Given the description of an element on the screen output the (x, y) to click on. 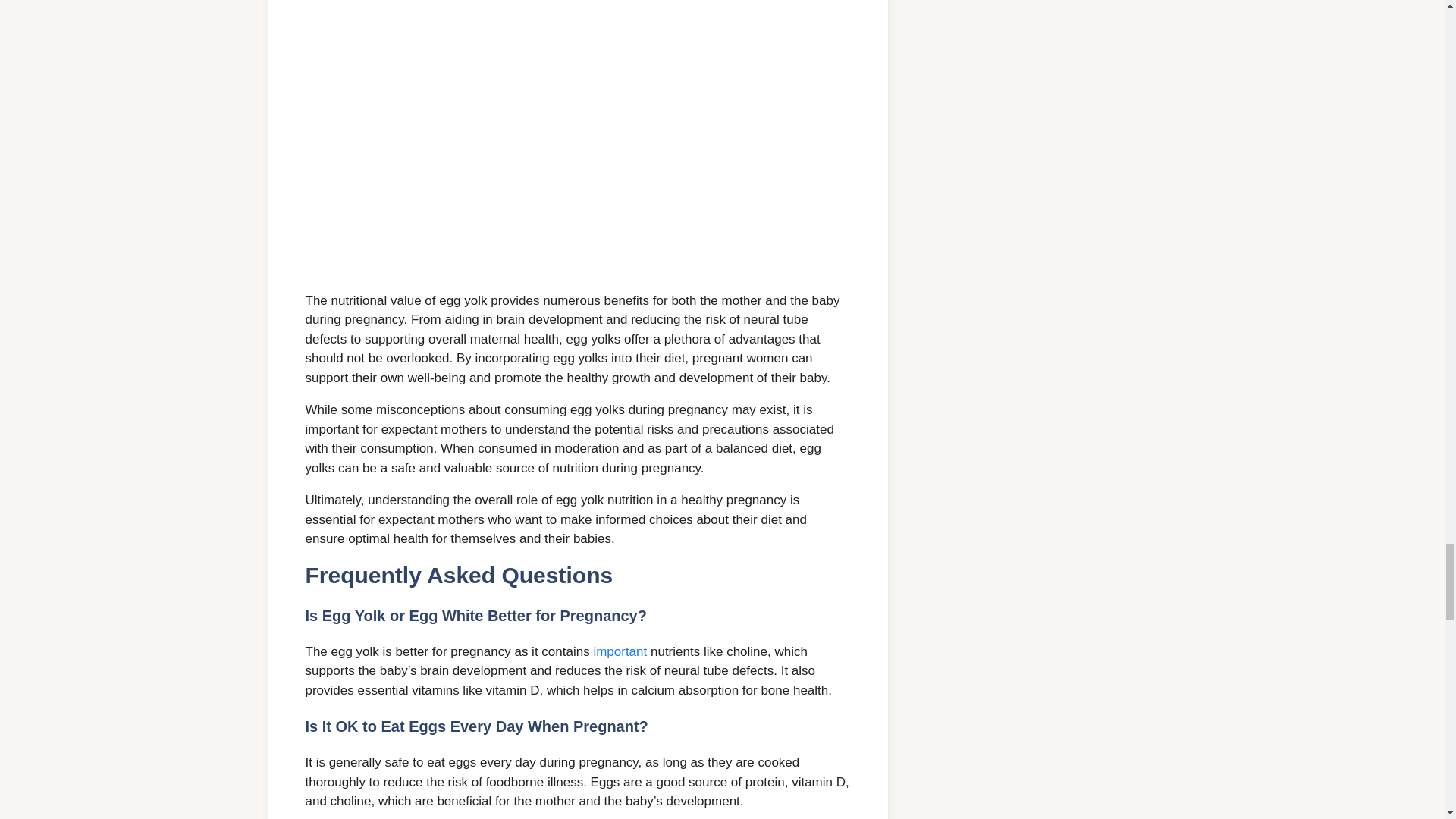
important (619, 651)
